Given the description of an element on the screen output the (x, y) to click on. 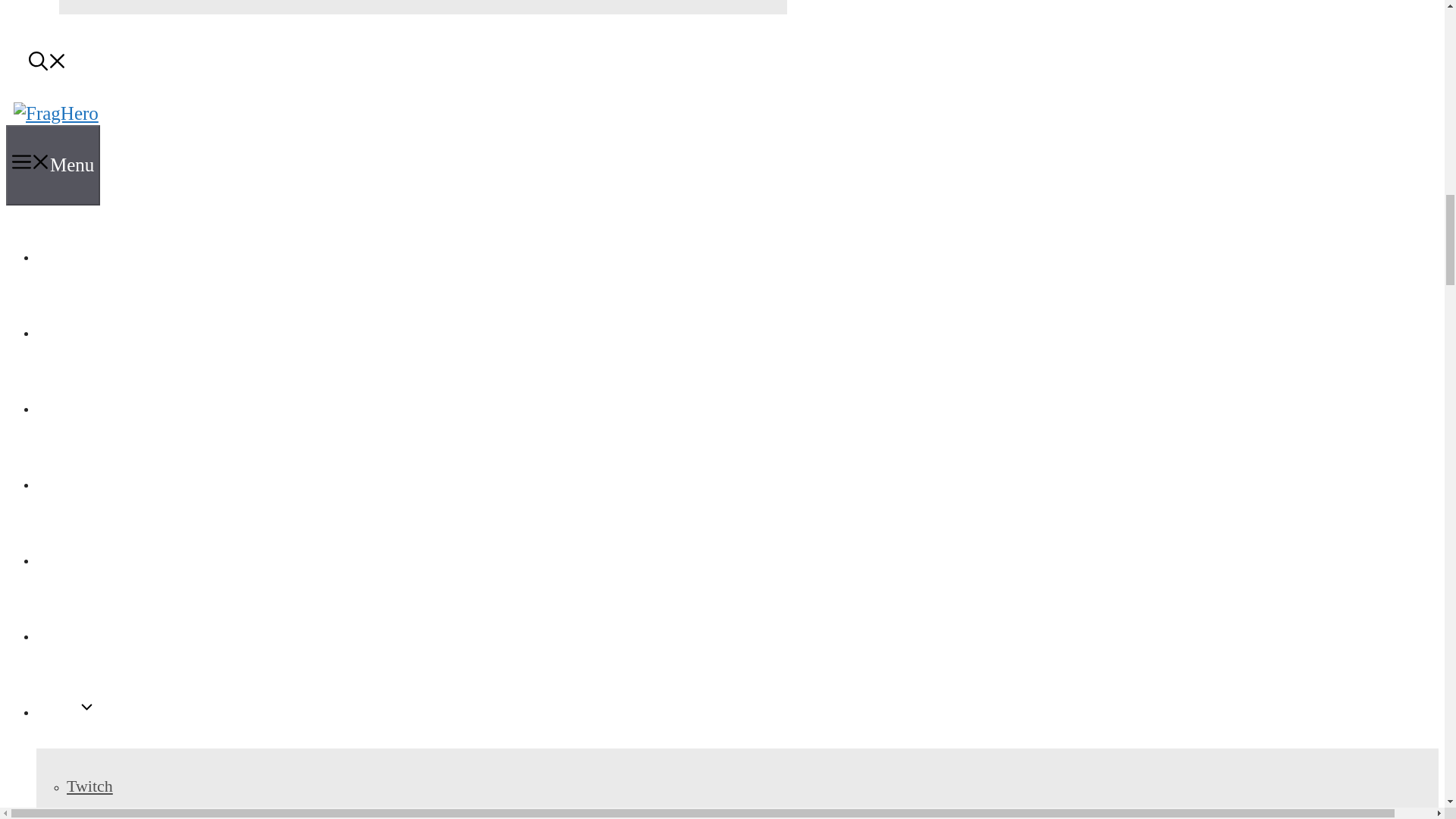
More (66, 710)
Hardware Reviews (108, 634)
FragHero (56, 113)
Features (68, 406)
Reviews (68, 557)
Twitch (89, 785)
Latest News (83, 254)
Guides (63, 331)
FragHero (56, 113)
Menu (52, 165)
